Given the description of an element on the screen output the (x, y) to click on. 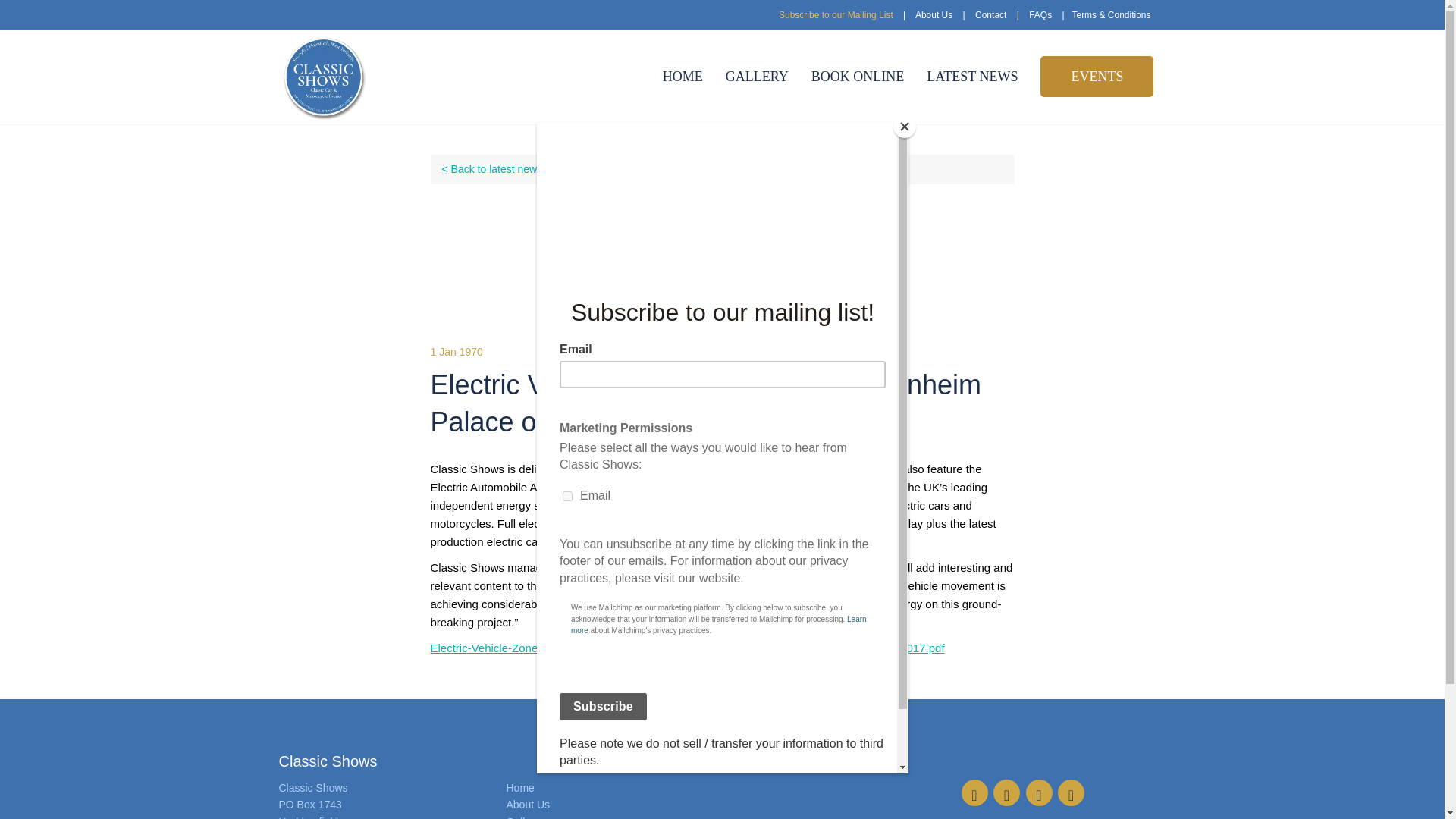
Subscribe to our Mailing List (835, 14)
GALLERY (756, 76)
BOOK ONLINE (857, 76)
FAQs (1040, 14)
About Us (528, 804)
Gallery (523, 817)
HOME (682, 76)
Contact (990, 14)
About Us (933, 14)
EVENTS (1097, 76)
LATEST NEWS (972, 76)
Home (520, 787)
